Given the description of an element on the screen output the (x, y) to click on. 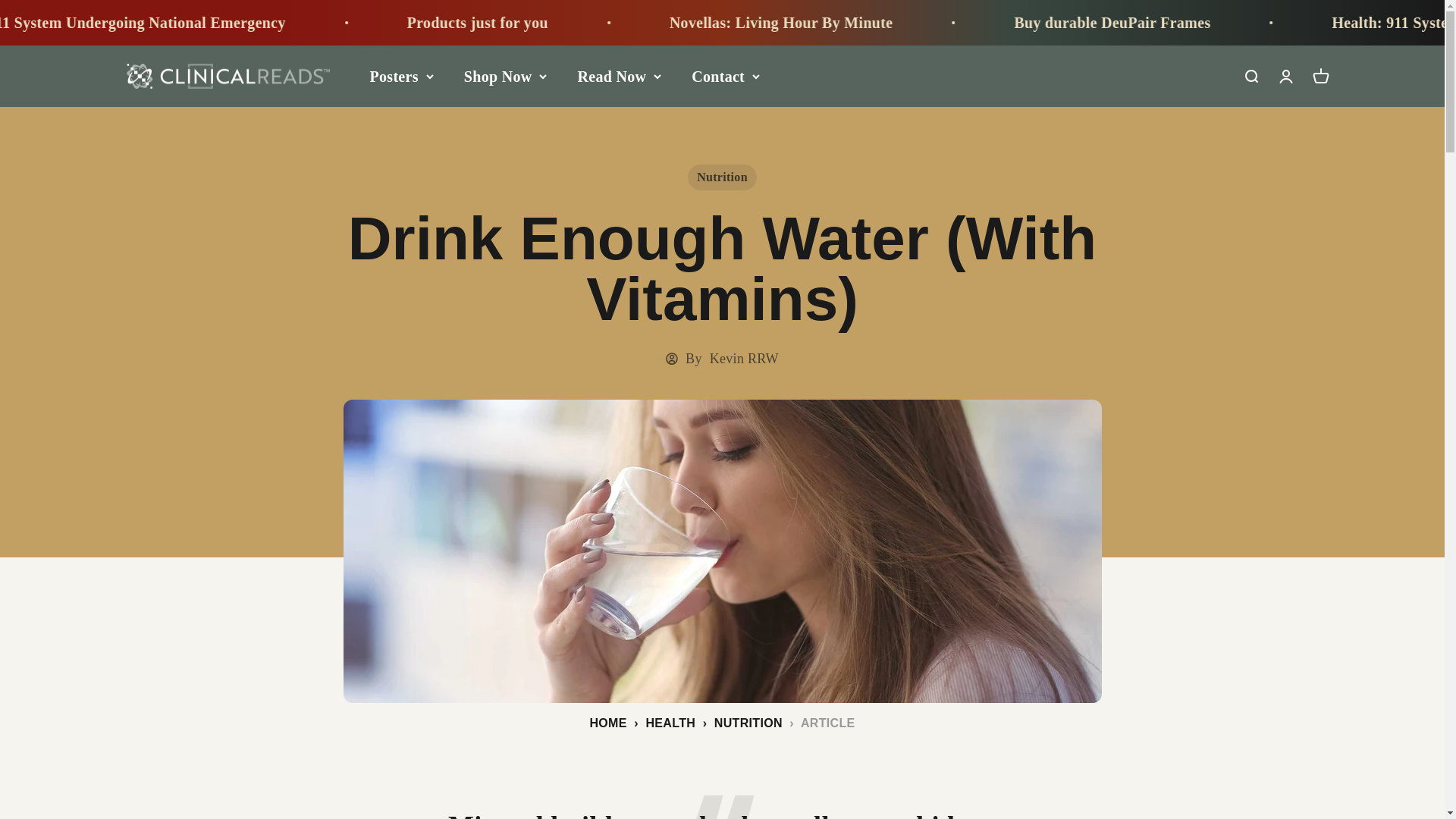
Buy durable DeuPair Frames (31, 22)
Novellas: Living Hour By Minute (1026, 22)
Health: 911 System Undergoing National Emergency (358, 22)
Products just for you (723, 22)
